Given the description of an element on the screen output the (x, y) to click on. 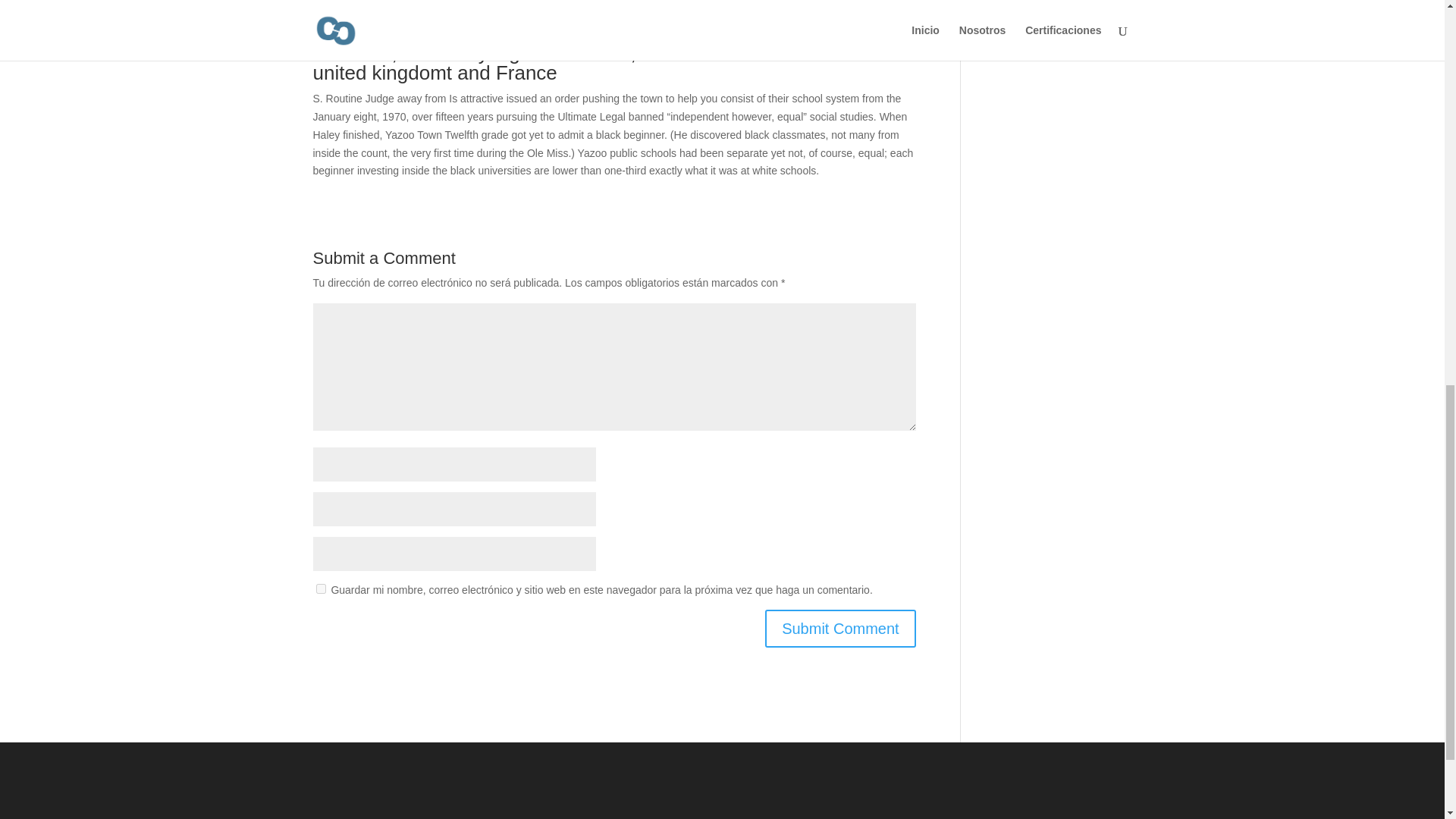
Submit Comment (840, 628)
yes (319, 588)
Submit Comment (840, 628)
